Given the description of an element on the screen output the (x, y) to click on. 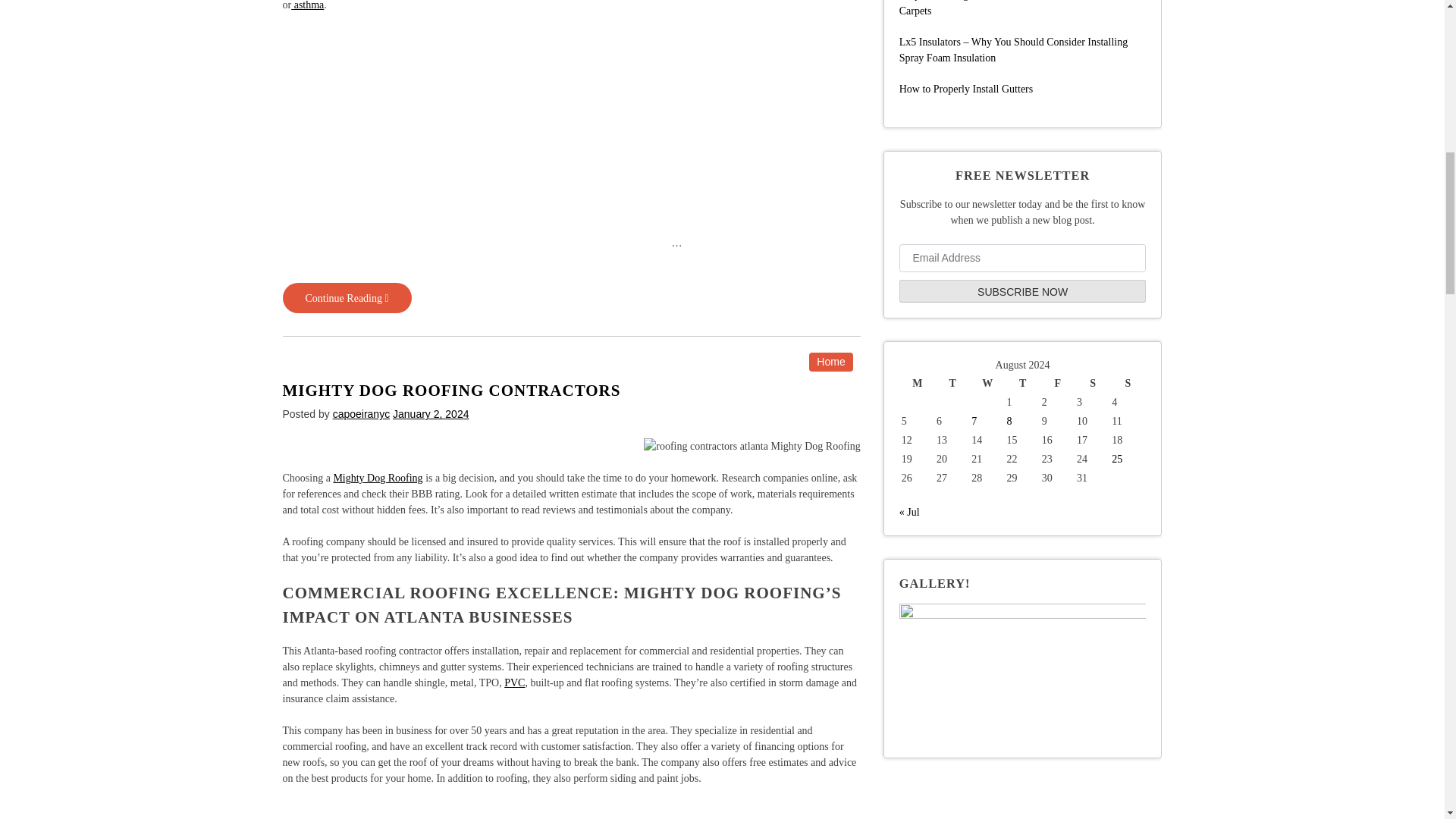
Monday (917, 383)
capoeiranyc (361, 413)
Mighty Dog Roofing (346, 297)
MIGHTY DOG ROOFING CONTRACTORS (377, 478)
Wednesday (451, 390)
Saturday (987, 383)
asthma (1092, 383)
PVC (307, 5)
Tuesday (513, 682)
